Given the description of an element on the screen output the (x, y) to click on. 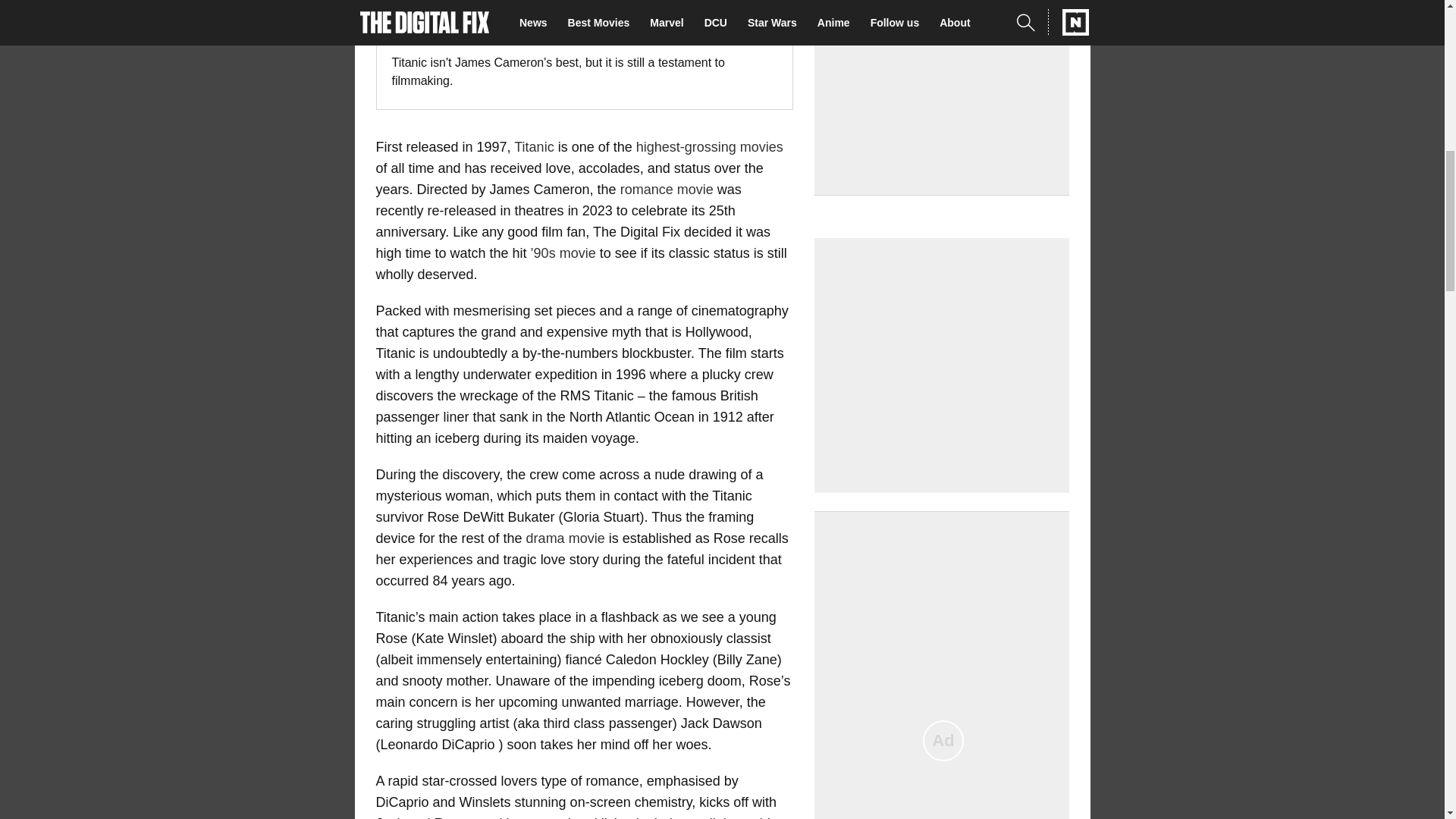
romance movie (666, 189)
drama movie (565, 538)
Titanic (533, 146)
highest-grossing movies (709, 146)
